Given the description of an element on the screen output the (x, y) to click on. 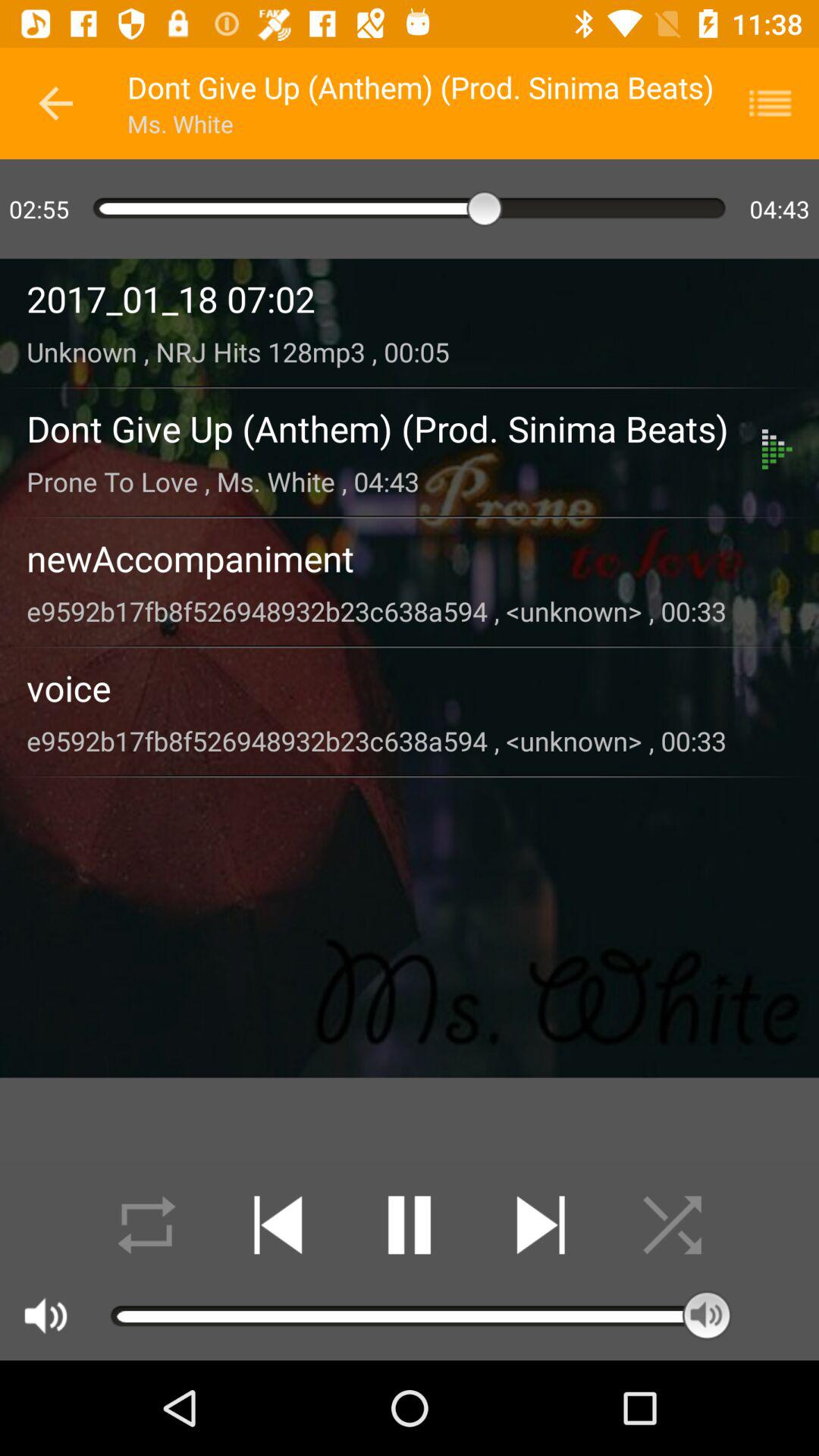
tap shuffle option (672, 1224)
